Given the description of an element on the screen output the (x, y) to click on. 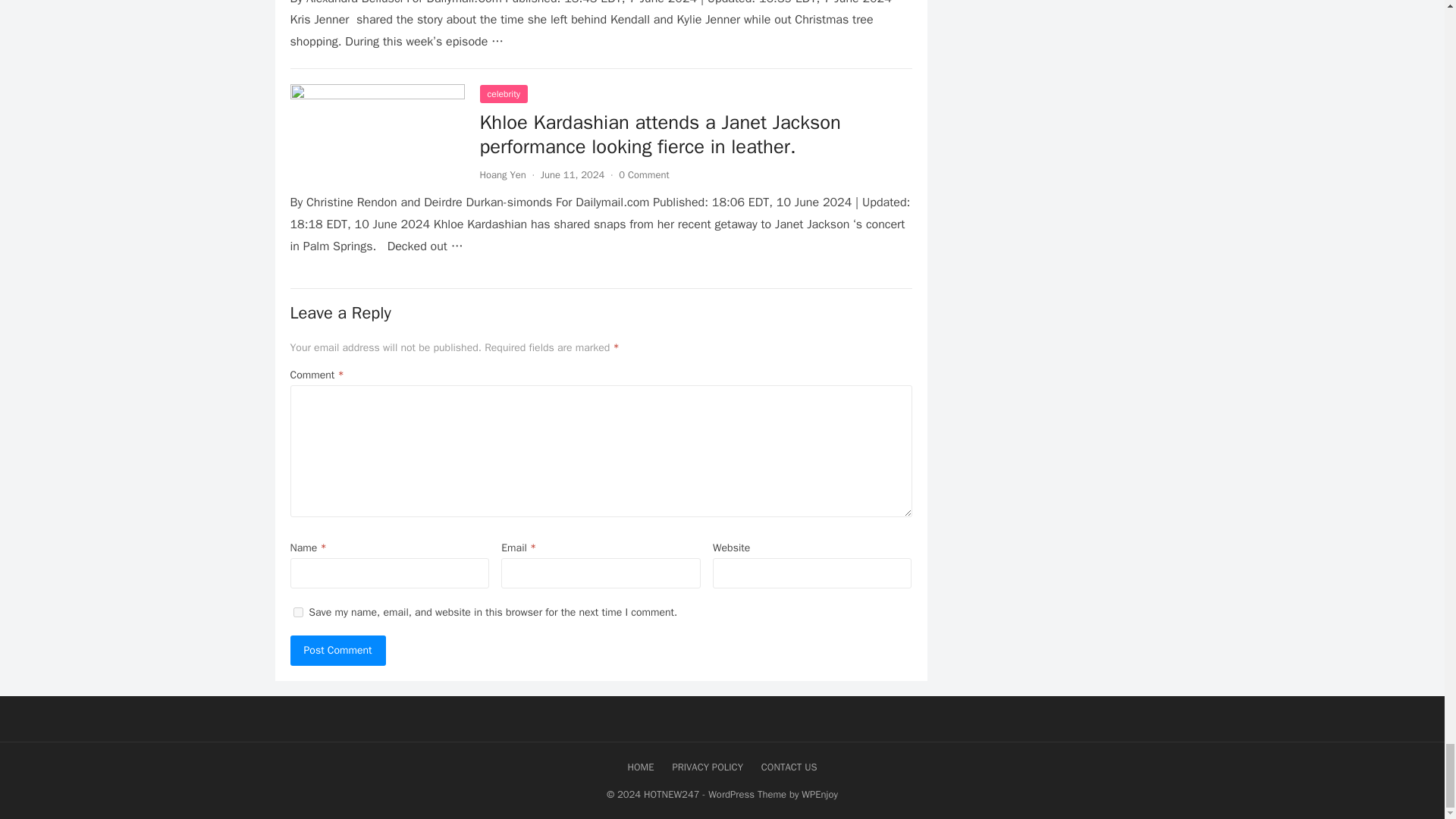
Post Comment (337, 650)
yes (297, 612)
Posts by Hoang Yen (502, 174)
